Given the description of an element on the screen output the (x, y) to click on. 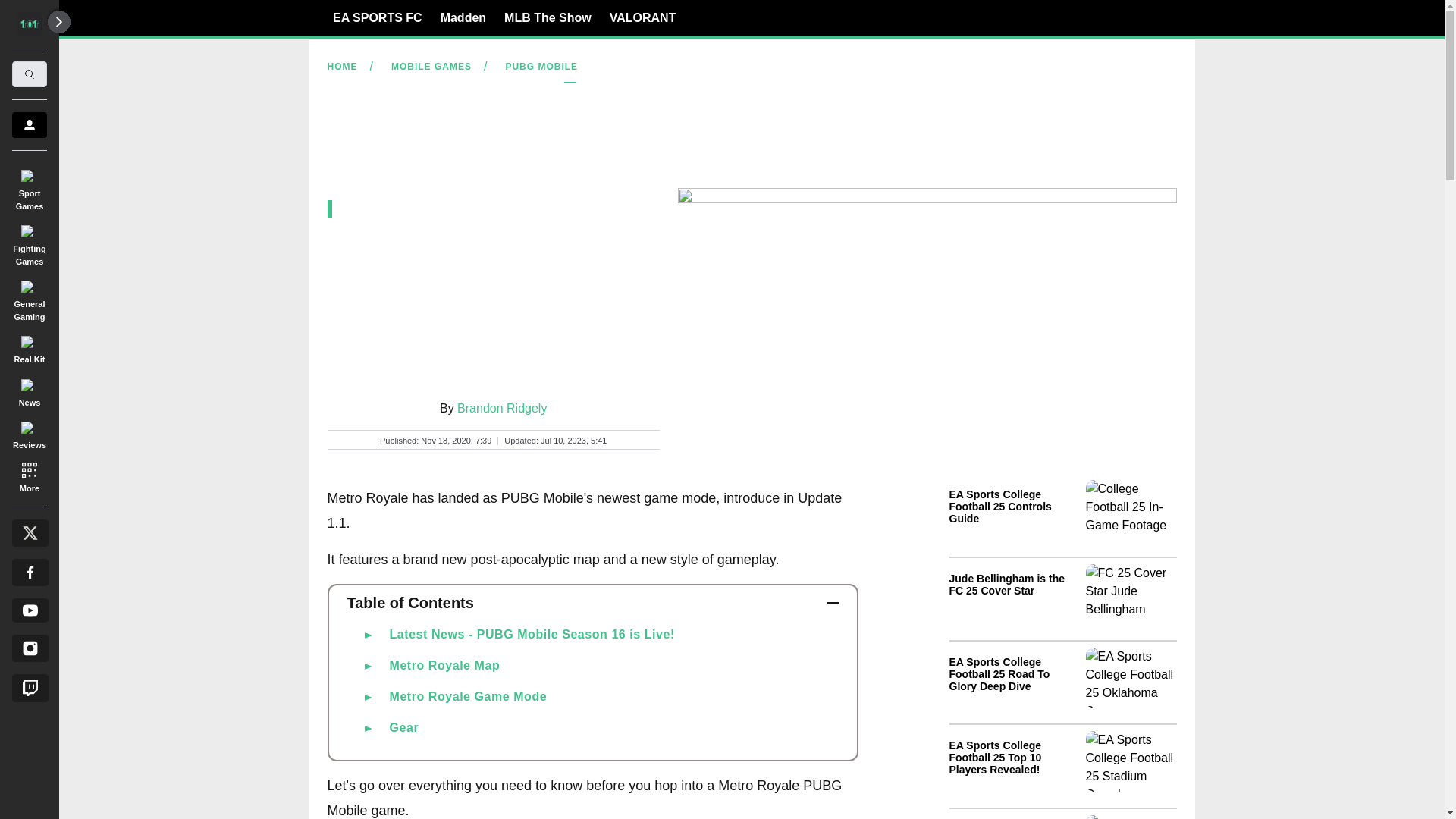
EA SPORTS FC (377, 18)
Real Kit (28, 347)
Fighting Games (28, 242)
Reviews (28, 433)
Sport Games (28, 187)
Madden (463, 18)
More (28, 476)
VALORANT (643, 18)
News (28, 389)
Latest News (1062, 646)
MLB The Show (547, 18)
General Gaming (28, 297)
